Given the description of an element on the screen output the (x, y) to click on. 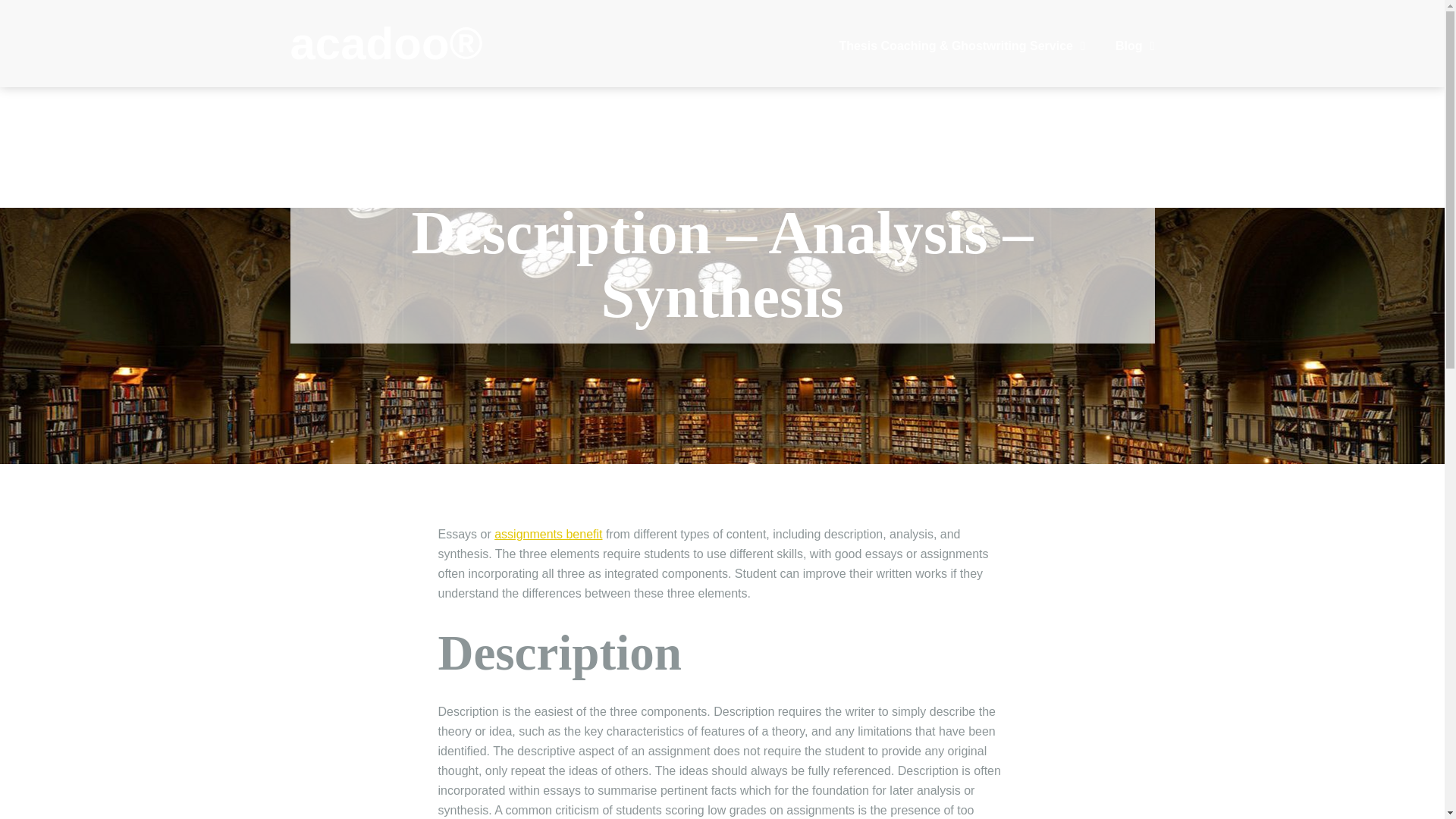
assignments benefit (548, 533)
Blog (1134, 46)
